Given the description of an element on the screen output the (x, y) to click on. 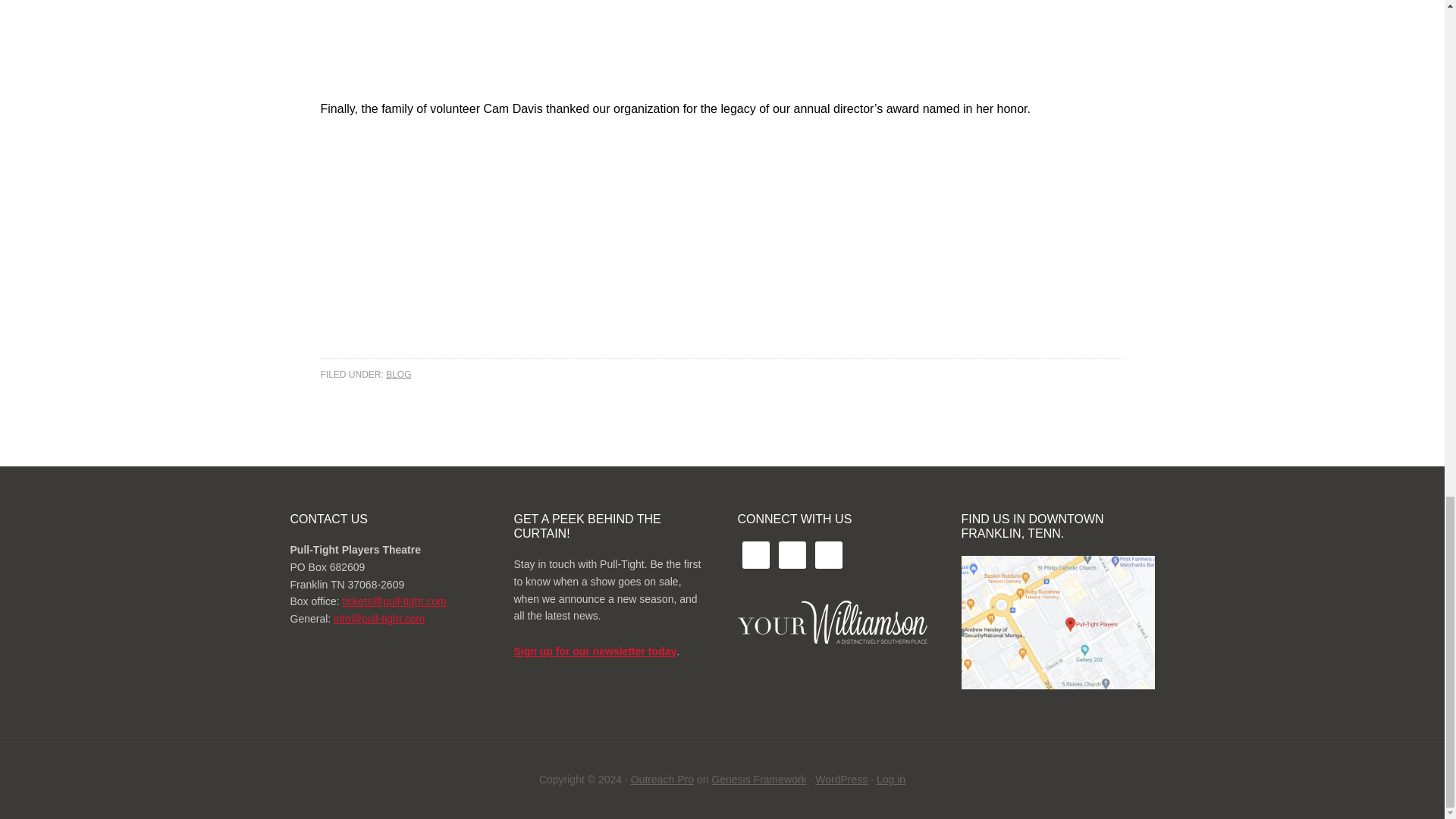
Pull-Tight Theatre: In Memoriam 2020 (509, 46)
BLOG (397, 374)
Pull-Tight: Cam Davis Spirit Award Intro 2020 (509, 245)
